Given the description of an element on the screen output the (x, y) to click on. 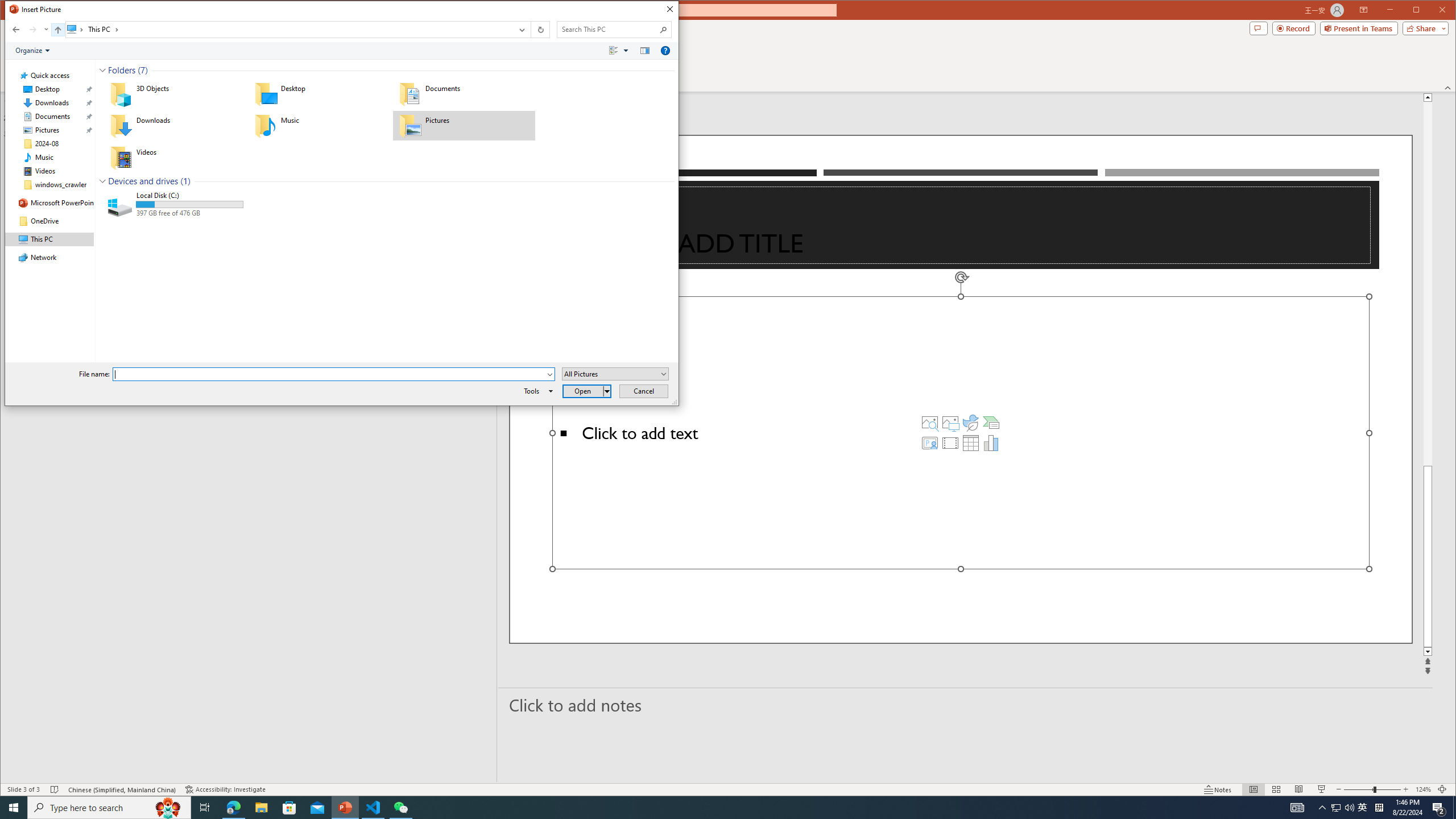
Forward (Alt + Right Arrow) (33, 29)
Class: UIImage (120, 204)
Insert an Icon (970, 422)
Microsoft Edge - 1 running window (233, 807)
Up to "Desktop" (Alt + Up Arrow) (57, 29)
